Given the description of an element on the screen output the (x, y) to click on. 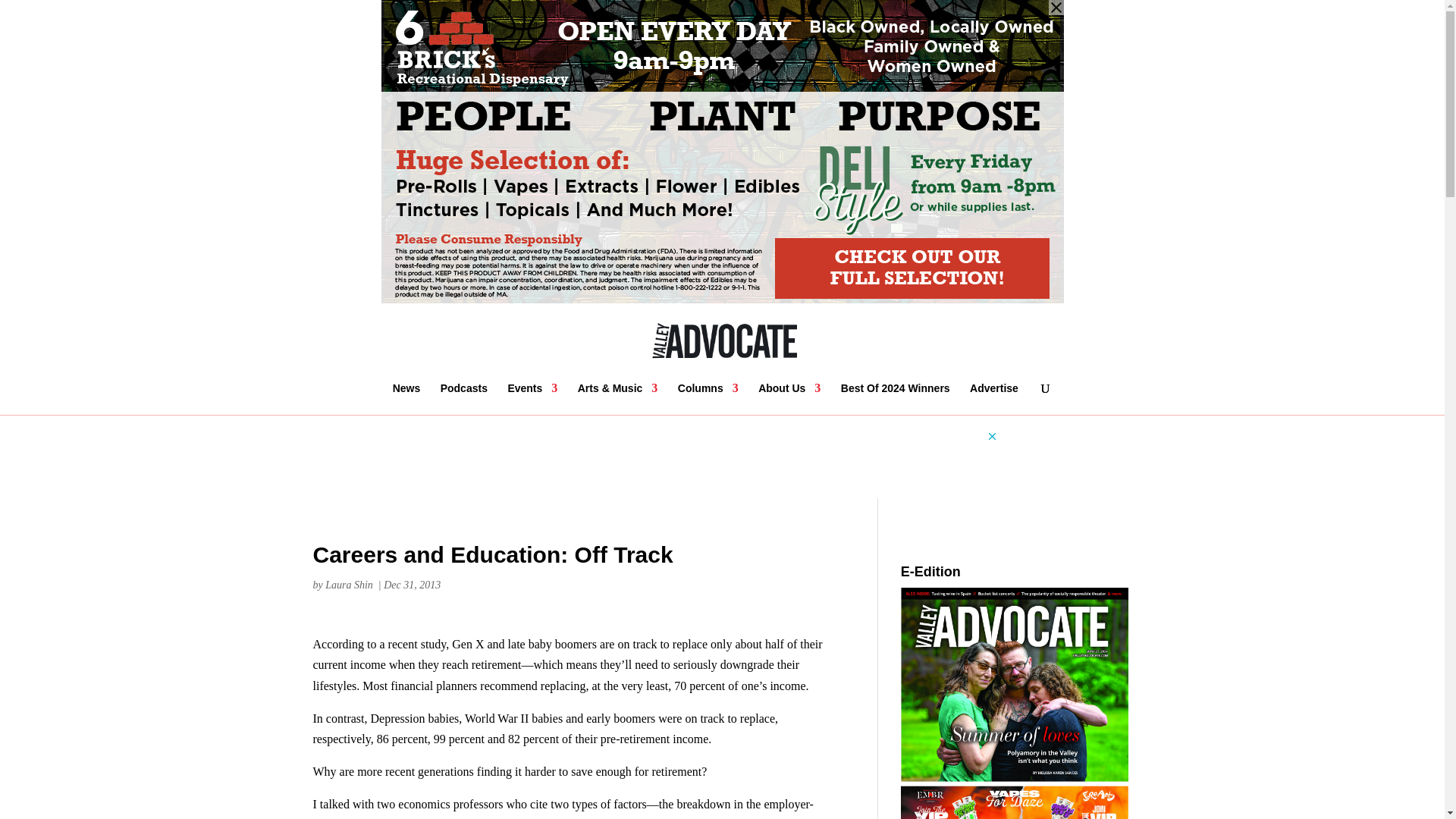
Advertise (993, 398)
3rd party ad content (721, 463)
Events (531, 398)
Best Of 2024 Winners (895, 398)
Podcasts (464, 398)
About Us (789, 398)
Columns (708, 398)
